Given the description of an element on the screen output the (x, y) to click on. 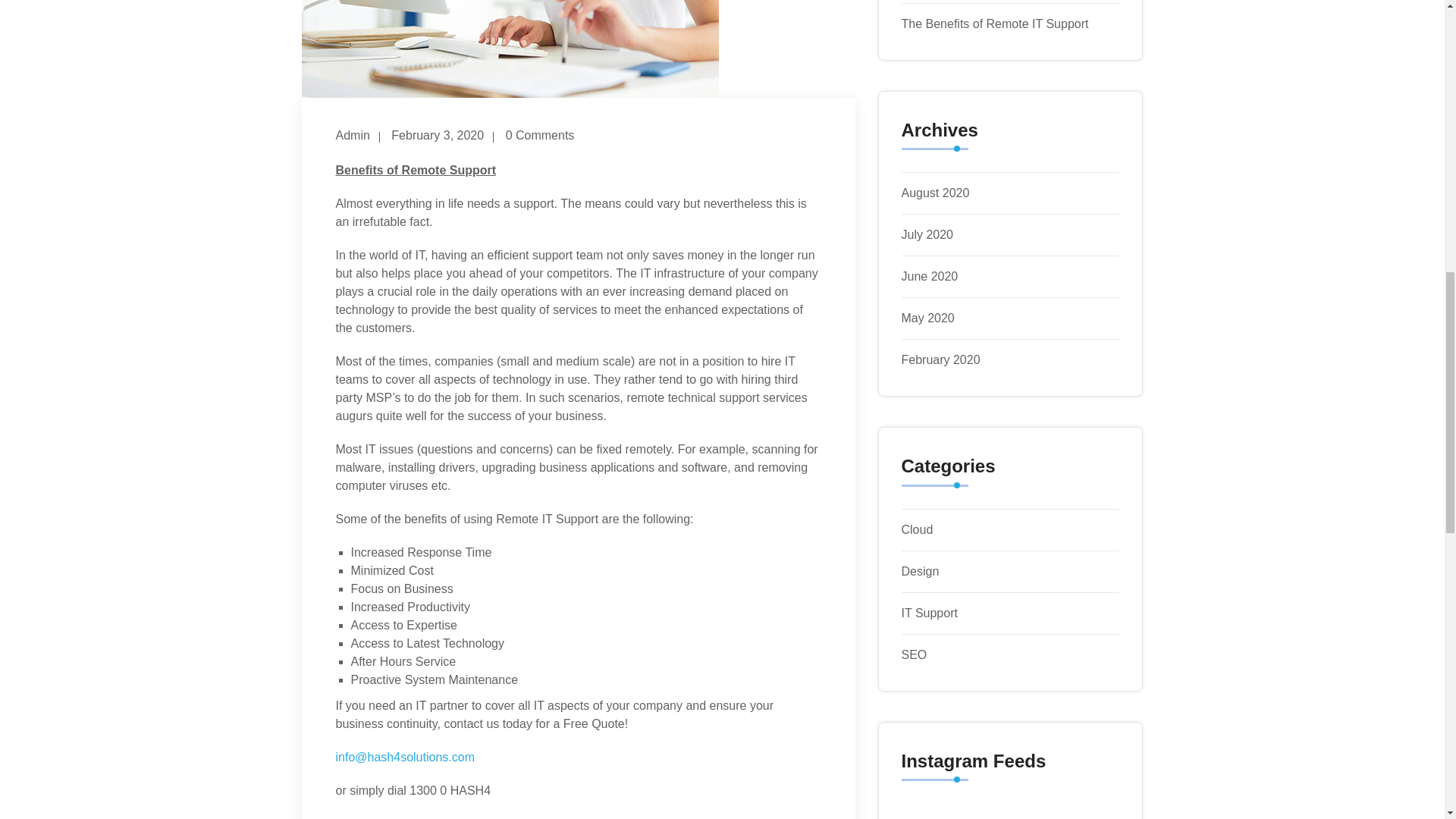
July 2020 (927, 234)
June 2020 (929, 276)
0 Comments (540, 135)
Admin (351, 135)
May 2020 (927, 318)
Cloud (917, 529)
Design (920, 571)
February 2020 (940, 359)
August 2020 (935, 192)
The Benefits of Remote IT Support (994, 23)
